Given the description of an element on the screen output the (x, y) to click on. 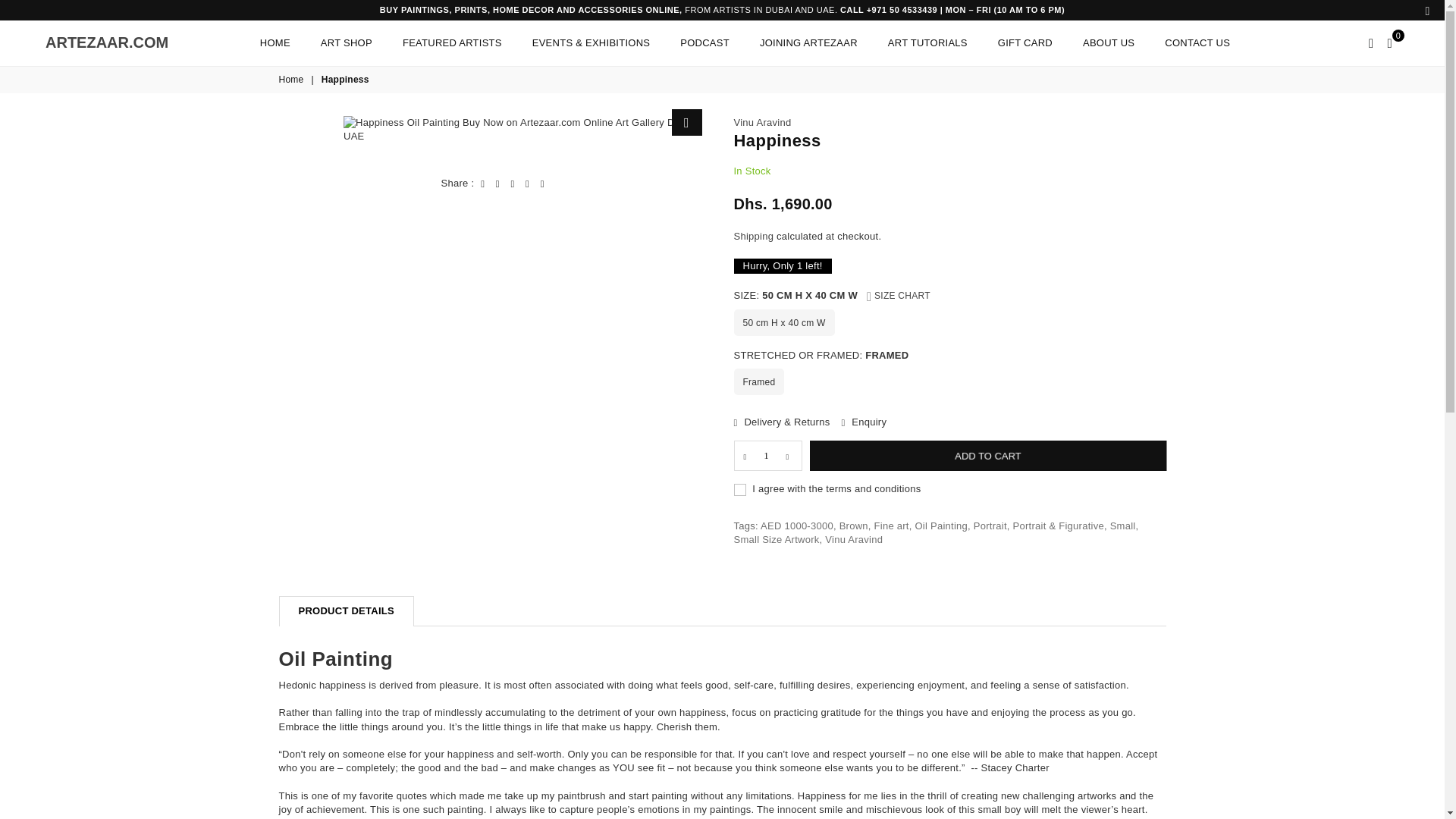
ART SHOP (346, 42)
HOME (274, 42)
Back to the home page (106, 42)
Vinu Aravind (292, 79)
Quantity (762, 122)
FEATURED ARTISTS (767, 455)
